Given the description of an element on the screen output the (x, y) to click on. 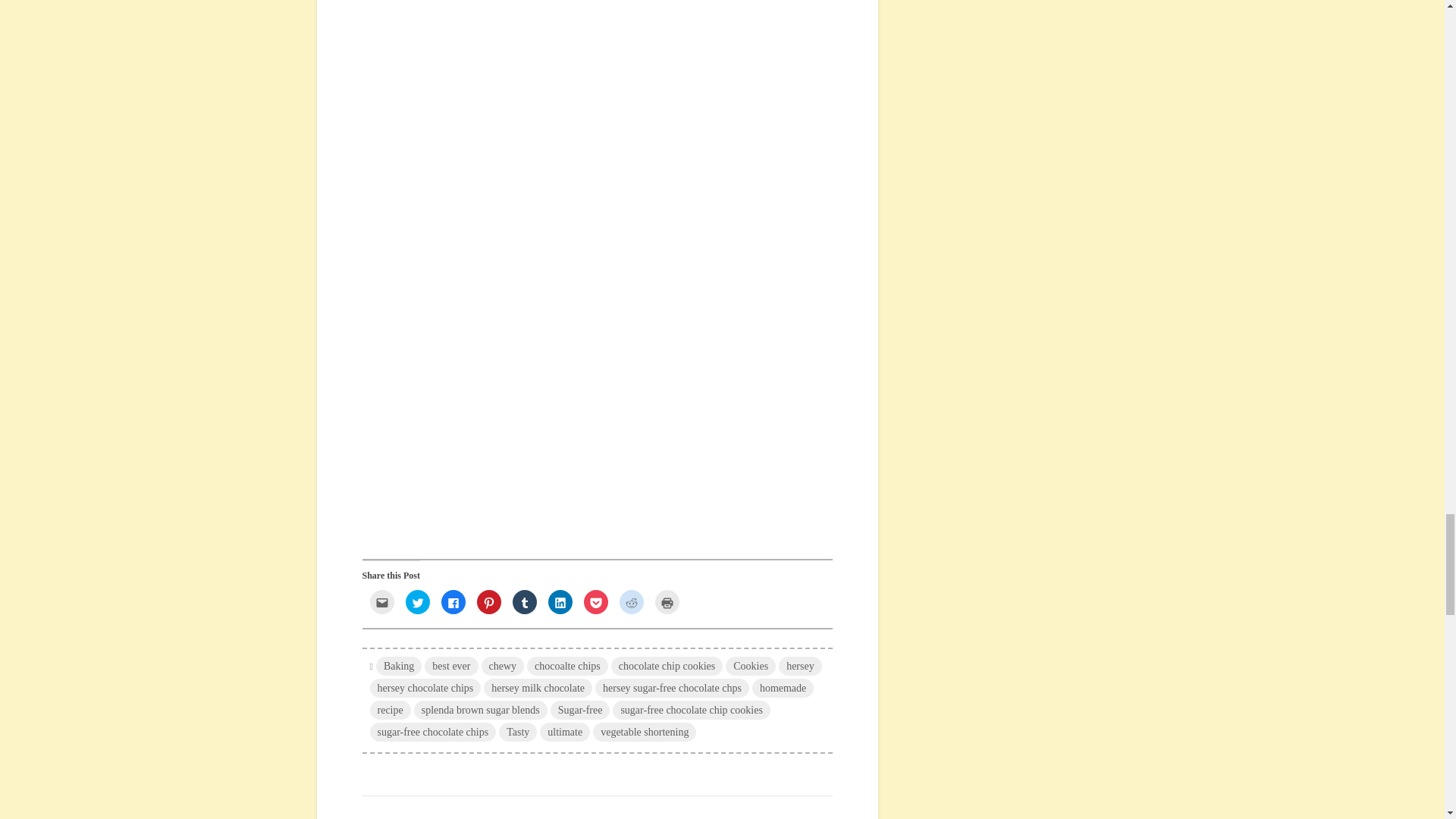
Click to share on Pocket (595, 601)
Click to share on Reddit (630, 601)
Click to email this to a friend (381, 601)
Click to print (667, 601)
Click to share on Tumblr (524, 601)
Click to share on Twitter (416, 601)
Click to share on LinkedIn (559, 601)
Click to share on Pinterest (488, 601)
Click to share on Facebook (453, 601)
